Given the description of an element on the screen output the (x, y) to click on. 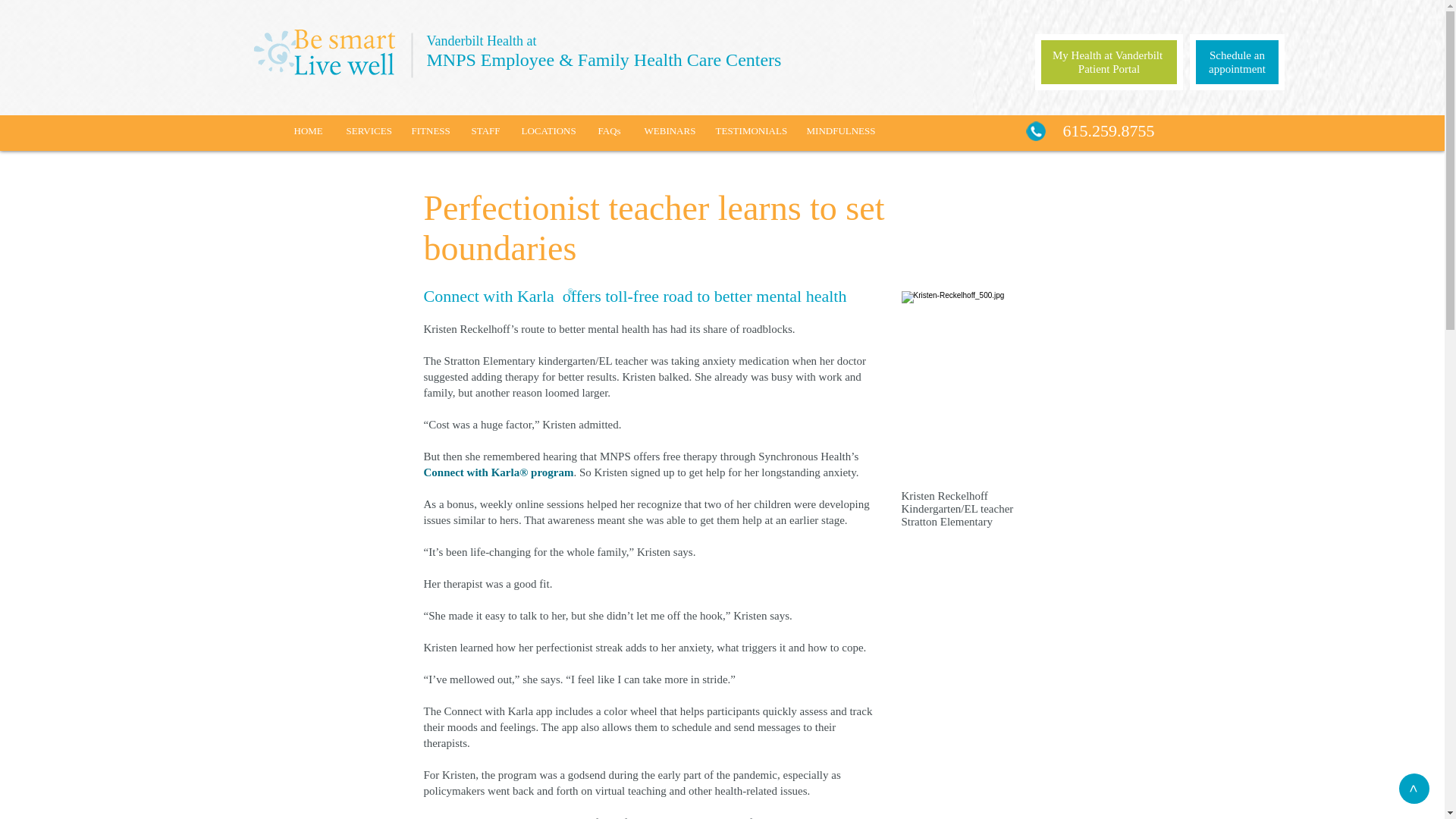
SERVICES (367, 130)
FITNESS (430, 130)
TESTIMONIALS (748, 130)
Patient Portal (1109, 69)
LOCATIONS (547, 130)
STAFF (1236, 62)
FAQs (484, 130)
HOME (609, 130)
WEBINARS (308, 130)
MINDFULNESS (667, 130)
My Health at Vanderbilt  (839, 130)
